Given the description of an element on the screen output the (x, y) to click on. 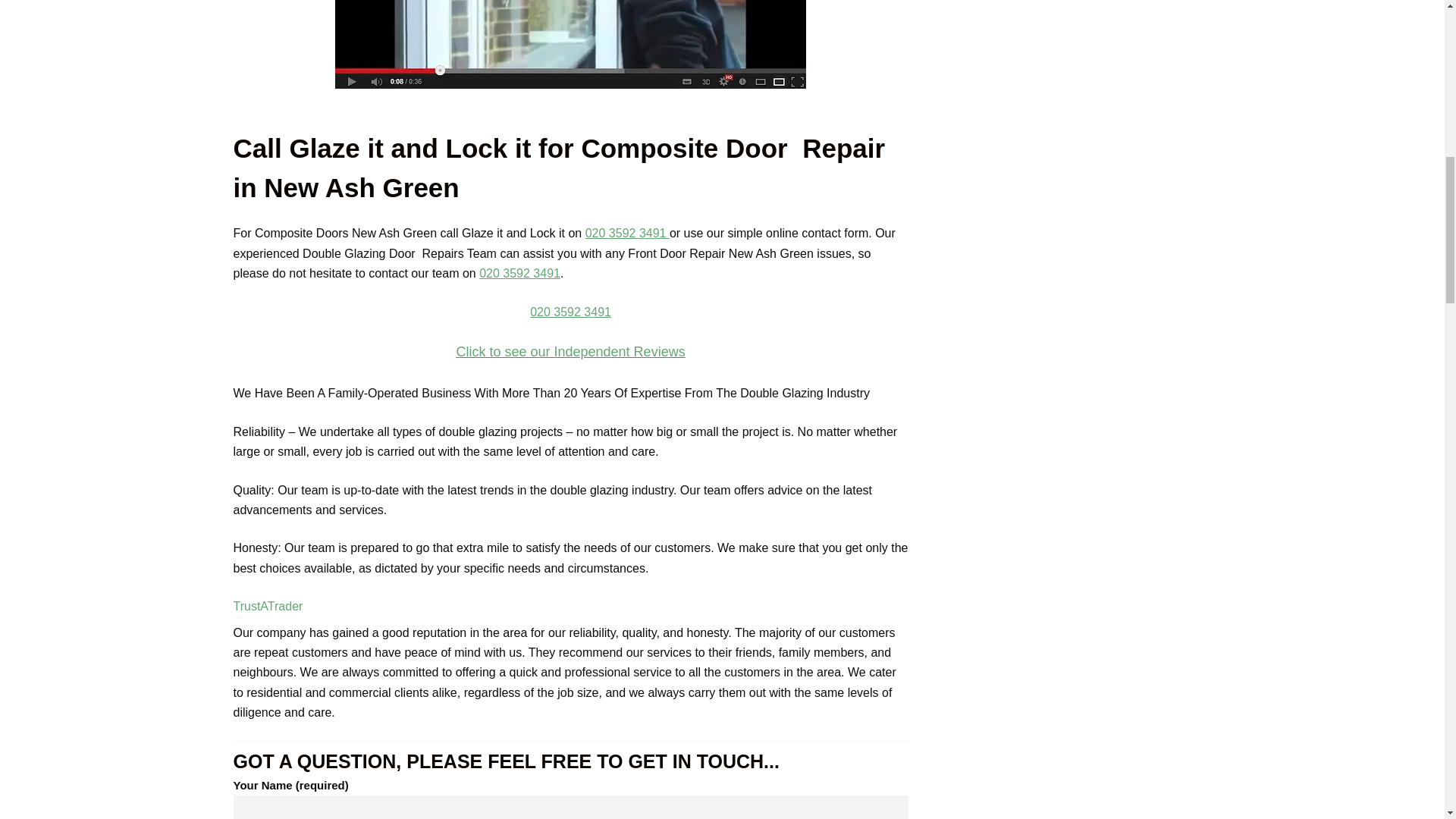
reviews (570, 310)
Click to see our Independent Reviews (569, 351)
020 3592 3491 (570, 311)
composite front door New Ash Green (570, 44)
best (569, 351)
020 3592 3491 (625, 232)
Double Glazing Door Repair (570, 44)
020 3592 3491 (519, 273)
TrustATrader (267, 605)
